Given the description of an element on the screen output the (x, y) to click on. 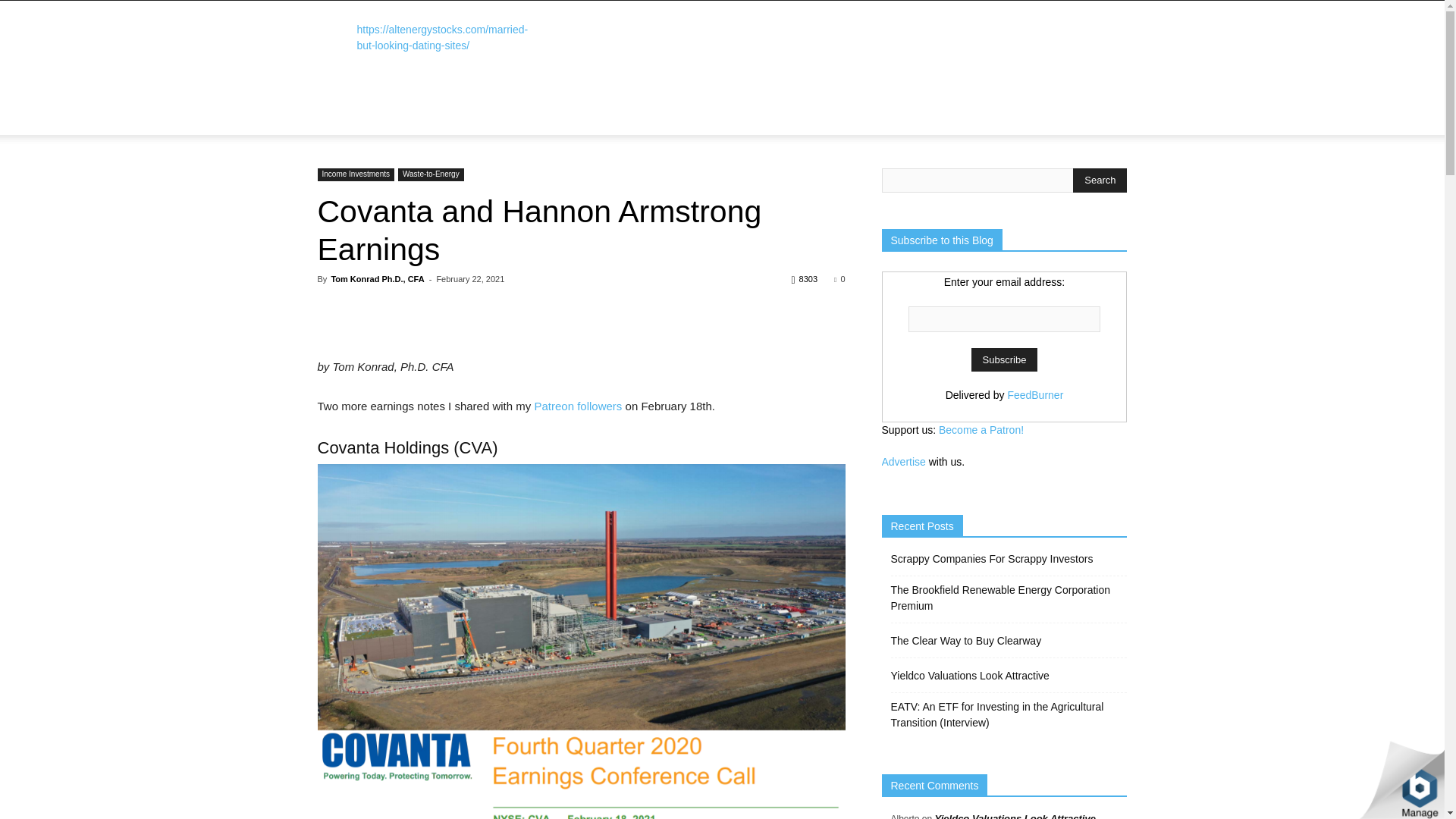
STOCK LISTS (405, 106)
Search (1099, 180)
Subscribe (1004, 359)
MUTUAL FUNDS (491, 106)
SOLAR (653, 106)
CONTACT (697, 125)
Search (1085, 139)
Income Investments (355, 174)
GEOTHERMAL (720, 106)
BATTERY (855, 106)
